Given the description of an element on the screen output the (x, y) to click on. 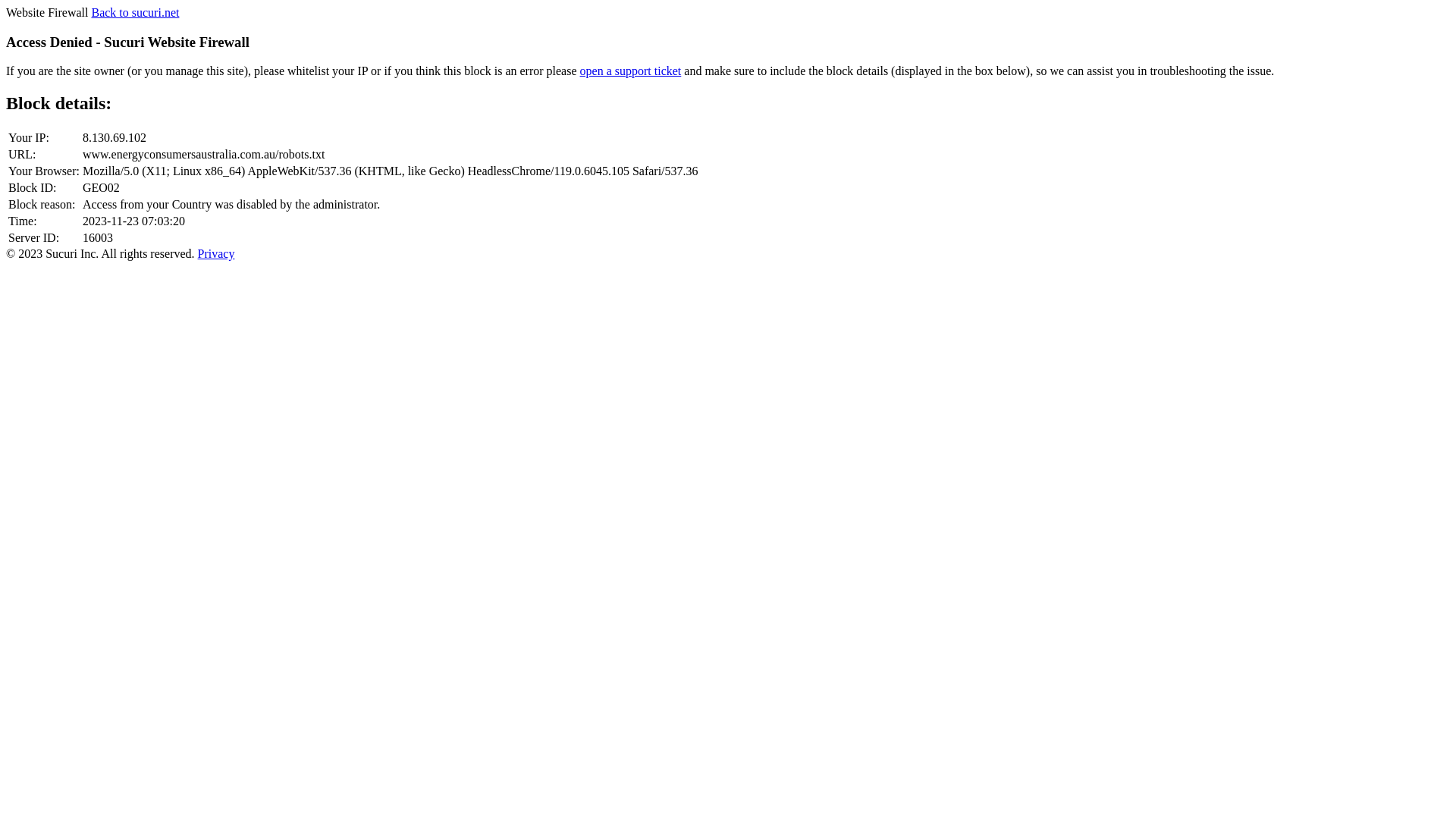
Privacy Element type: text (216, 253)
open a support ticket Element type: text (630, 70)
Back to sucuri.net Element type: text (134, 12)
